Given the description of an element on the screen output the (x, y) to click on. 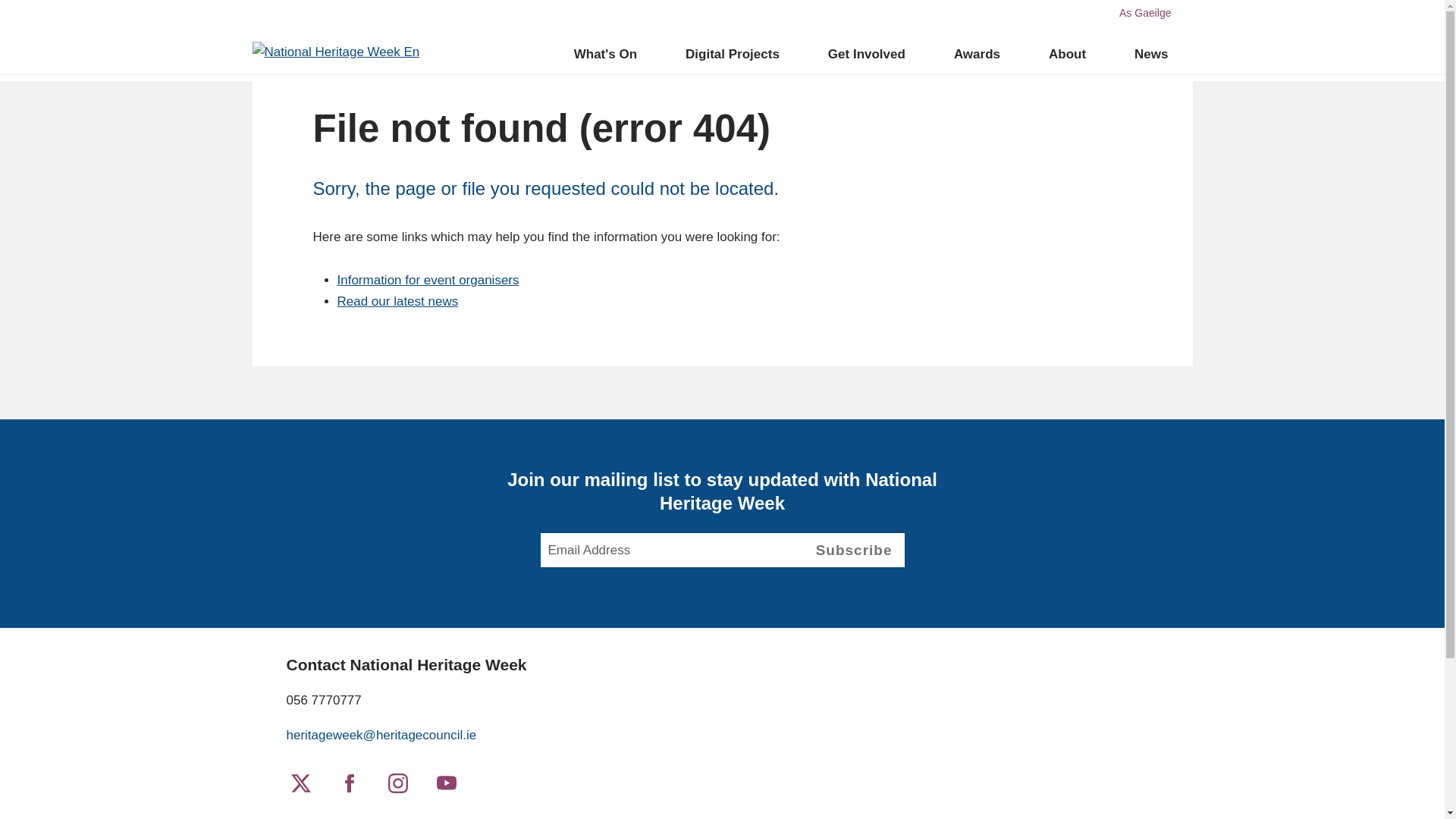
About (1067, 53)
As Gaeilge (1144, 12)
News (1150, 53)
Home (335, 51)
Awards (977, 53)
What's On (605, 53)
National Heritage Week En (335, 51)
Digital Projects (732, 53)
Get Involved (866, 53)
